Given the description of an element on the screen output the (x, y) to click on. 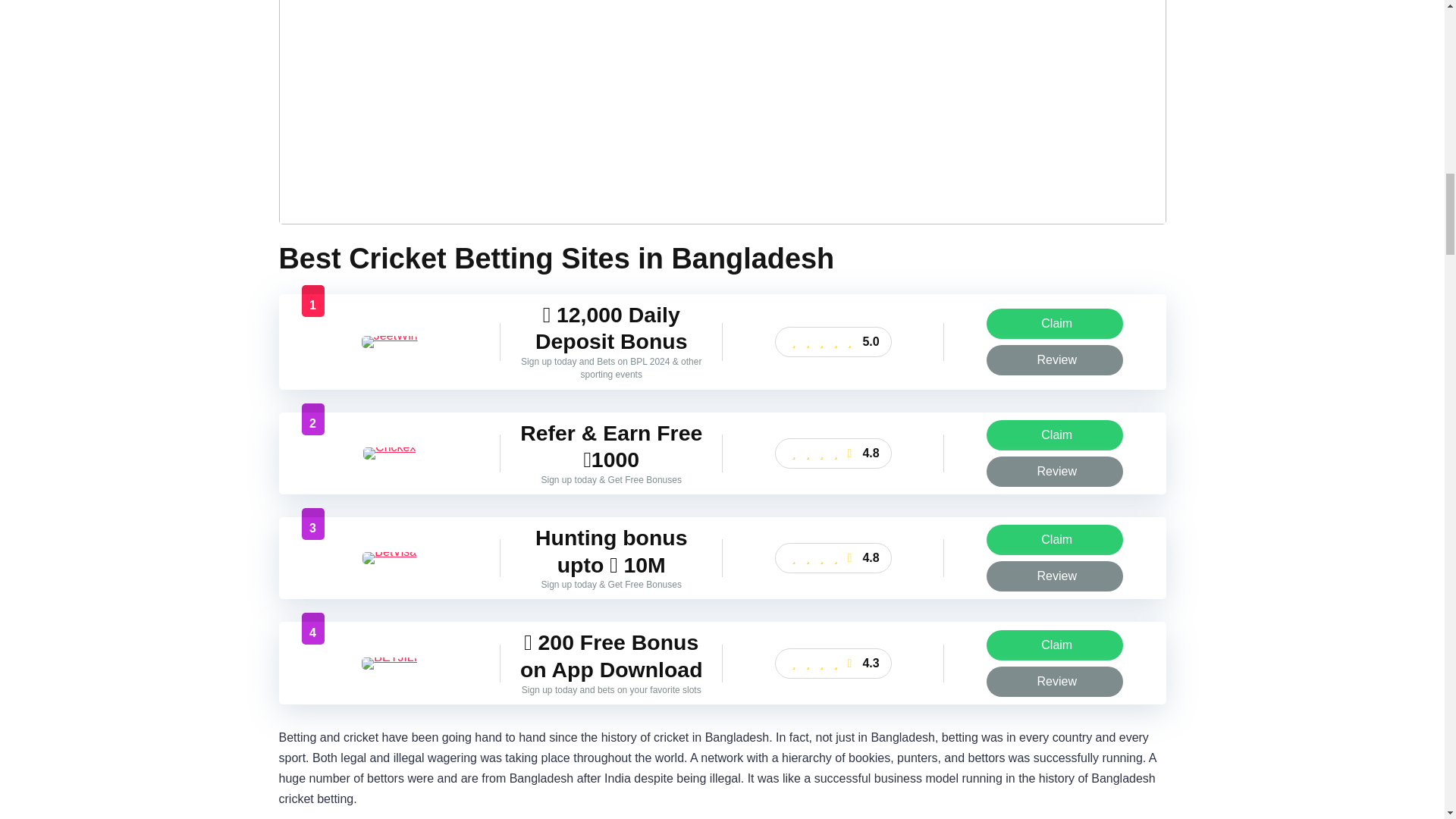
Review (1054, 359)
Claim (1054, 323)
Review (1054, 471)
JeetWin (389, 335)
Claim (1054, 435)
Claim (1054, 435)
Claim (1054, 323)
Review (1054, 359)
Claim (1054, 539)
Crickex (388, 446)
